Given the description of an element on the screen output the (x, y) to click on. 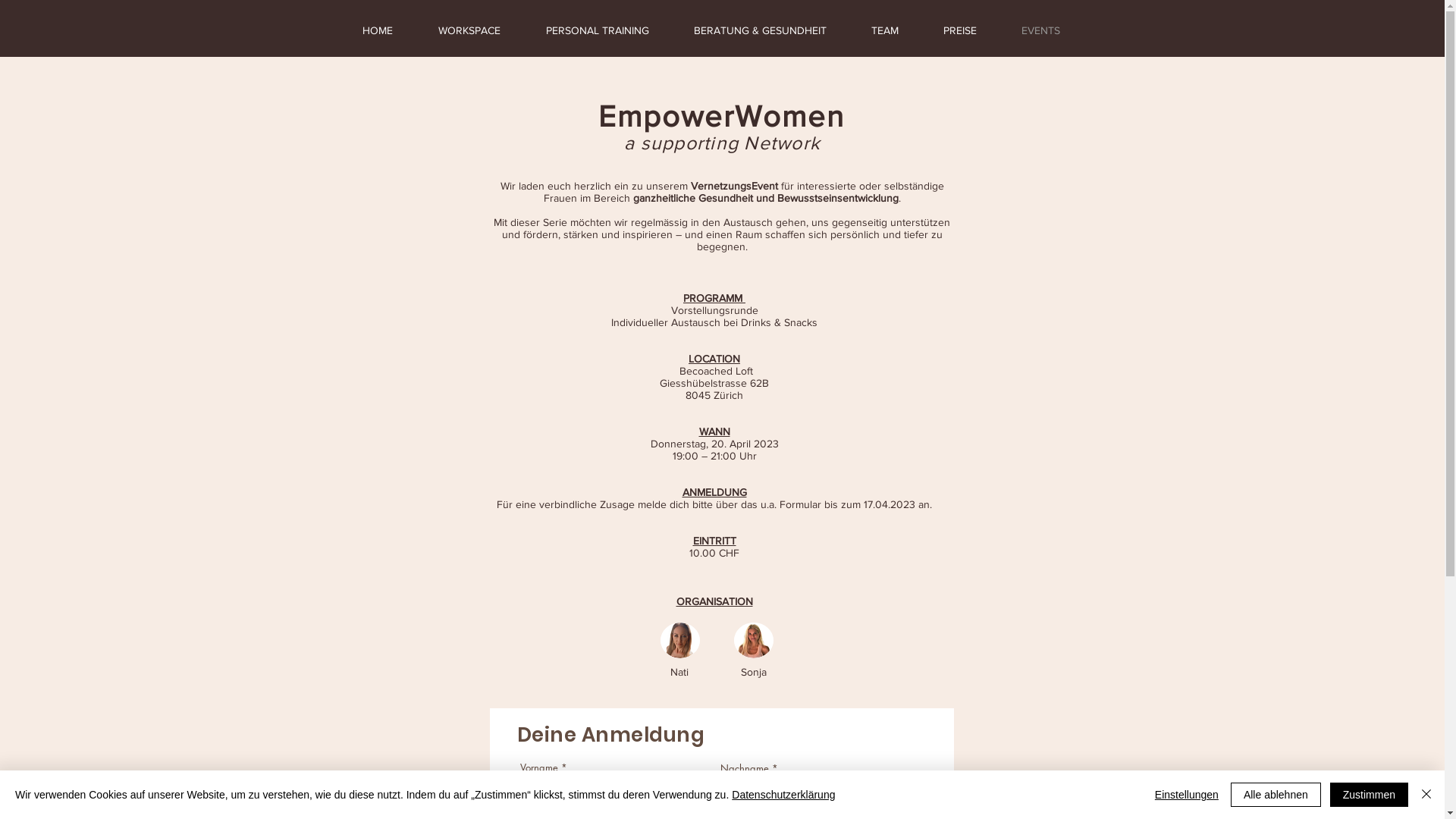
WORKSPACE Element type: text (479, 30)
BERATUNG & GESUNDHEIT Element type: text (770, 30)
PERSONAL TRAINING Element type: text (607, 30)
PREISE Element type: text (970, 30)
HOME Element type: text (388, 30)
Nati Element type: text (679, 671)
Sonja Element type: text (752, 671)
Alle ablehnen Element type: text (1275, 794)
Zustimmen Element type: text (1369, 794)
EVENTS Element type: text (1051, 30)
TEAM Element type: text (895, 30)
